Given the description of an element on the screen output the (x, y) to click on. 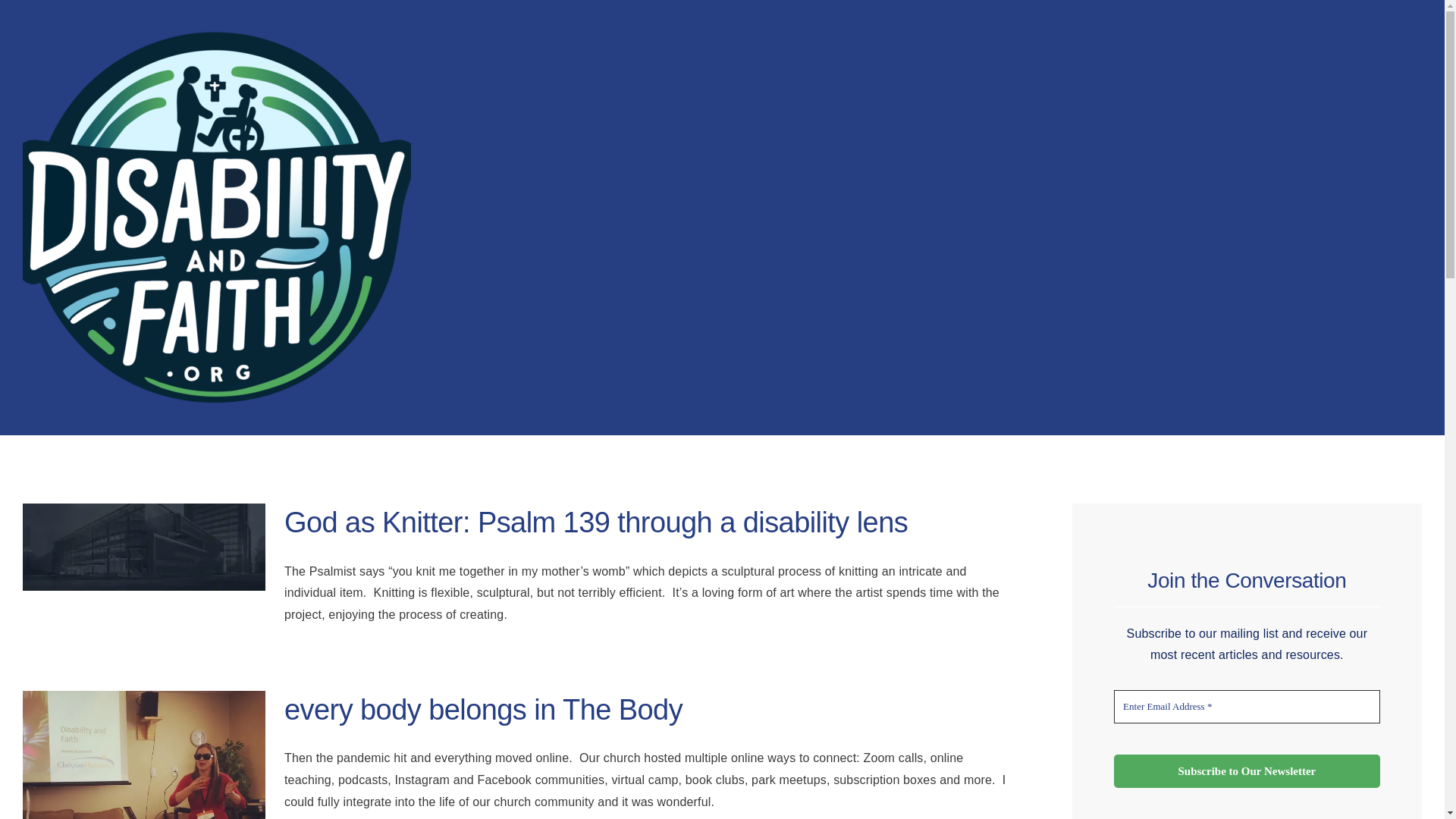
Subscribe to Our Newsletter (1246, 771)
every body belongs in The Body (482, 709)
God as Knitter: Psalm 139 through a disability lens (595, 522)
Enter Email Address (1246, 706)
Subscribe to Our Newsletter (1246, 771)
